Given the description of an element on the screen output the (x, y) to click on. 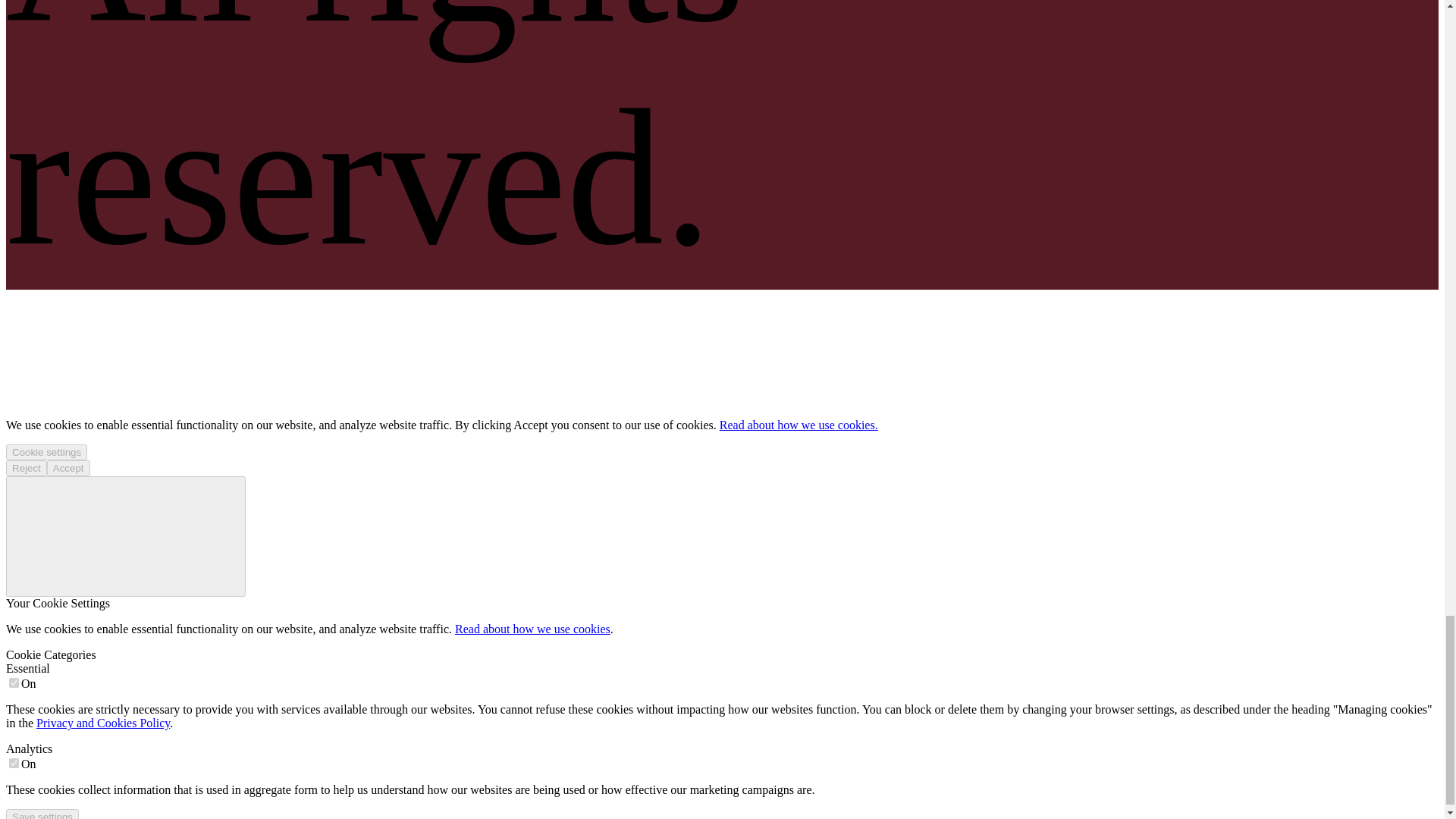
Read about how we use cookies. (798, 424)
Accept (68, 467)
on (13, 763)
on (13, 682)
Read about how we use cookies (532, 628)
Cookie settings (46, 452)
Privacy and Cookies Policy (103, 722)
Reject (25, 467)
